Given the description of an element on the screen output the (x, y) to click on. 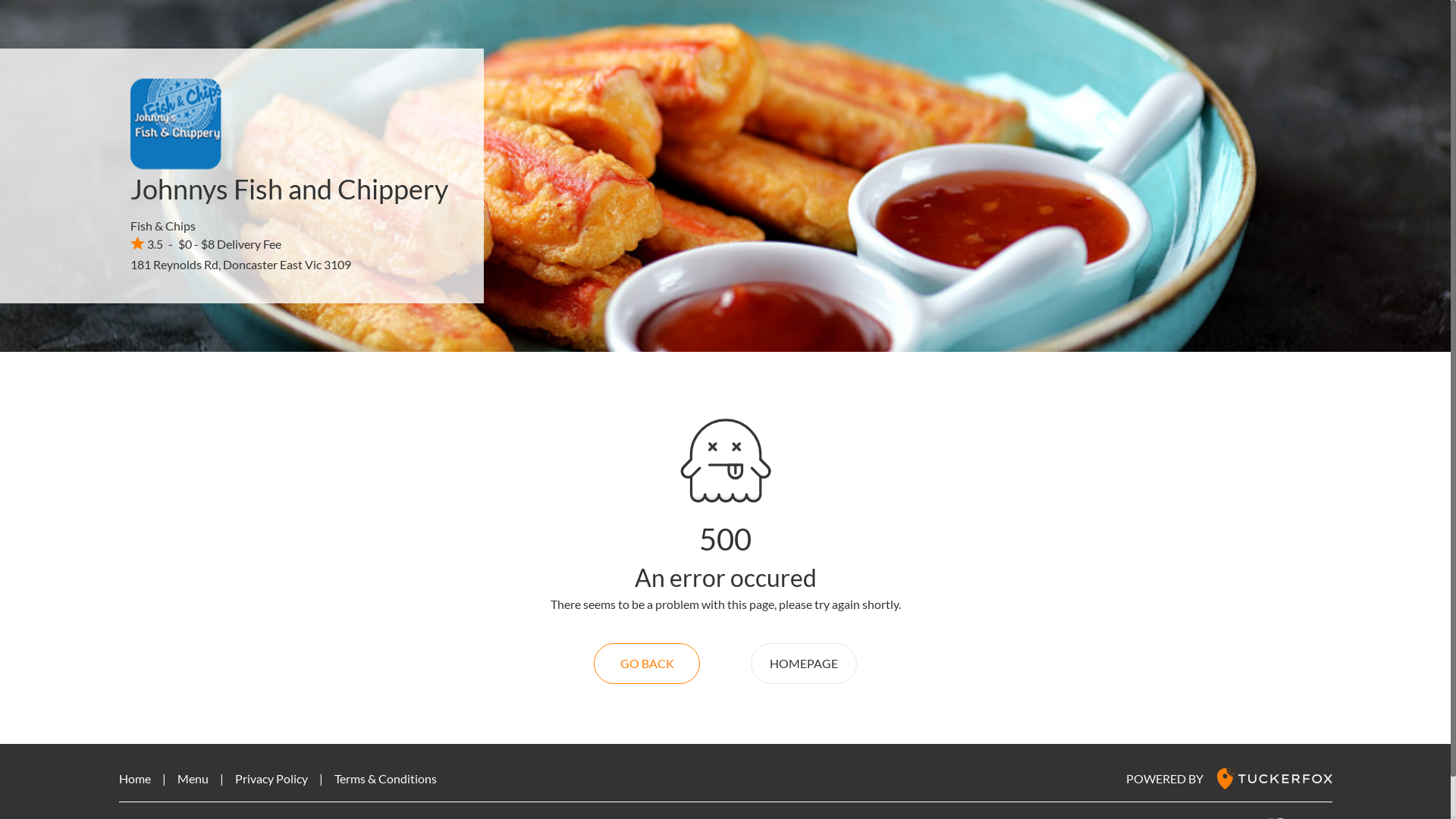
3.5 Element type: text (146, 243)
Privacy Policy Element type: text (271, 778)
Terms & Conditions Element type: text (384, 778)
Menu Element type: text (192, 778)
Home Element type: text (134, 778)
GO BACK Element type: text (646, 663)
Johnnys Fish and Chippery Element type: text (289, 188)
HOMEPAGE Element type: text (803, 663)
